Given the description of an element on the screen output the (x, y) to click on. 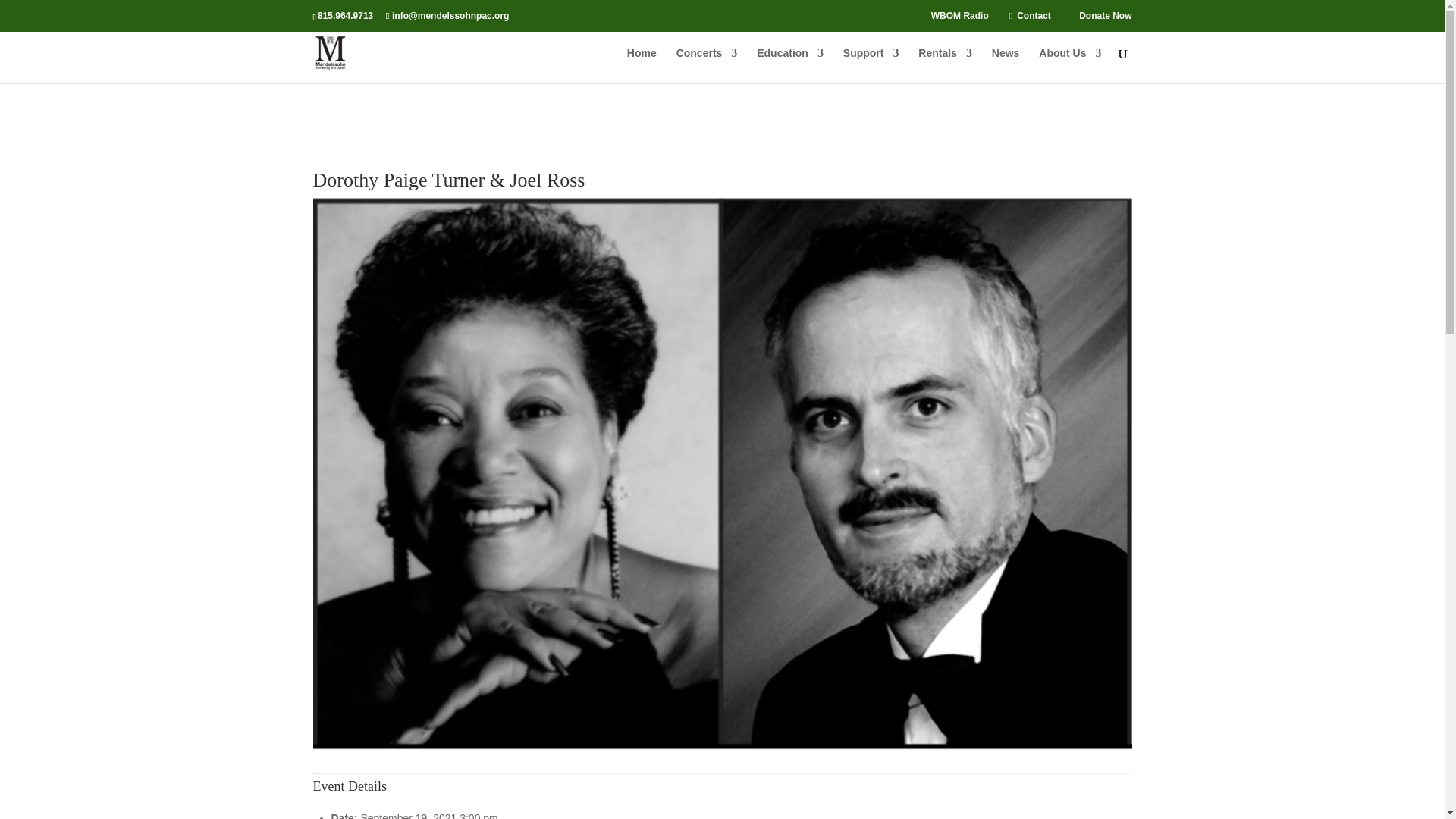
Contact (1033, 18)
Concerts (707, 65)
Support (871, 65)
Education (790, 65)
WBOM Radio (959, 18)
Rentals (945, 65)
Donate Now (1104, 18)
About Us (1069, 65)
